Given the description of an element on the screen output the (x, y) to click on. 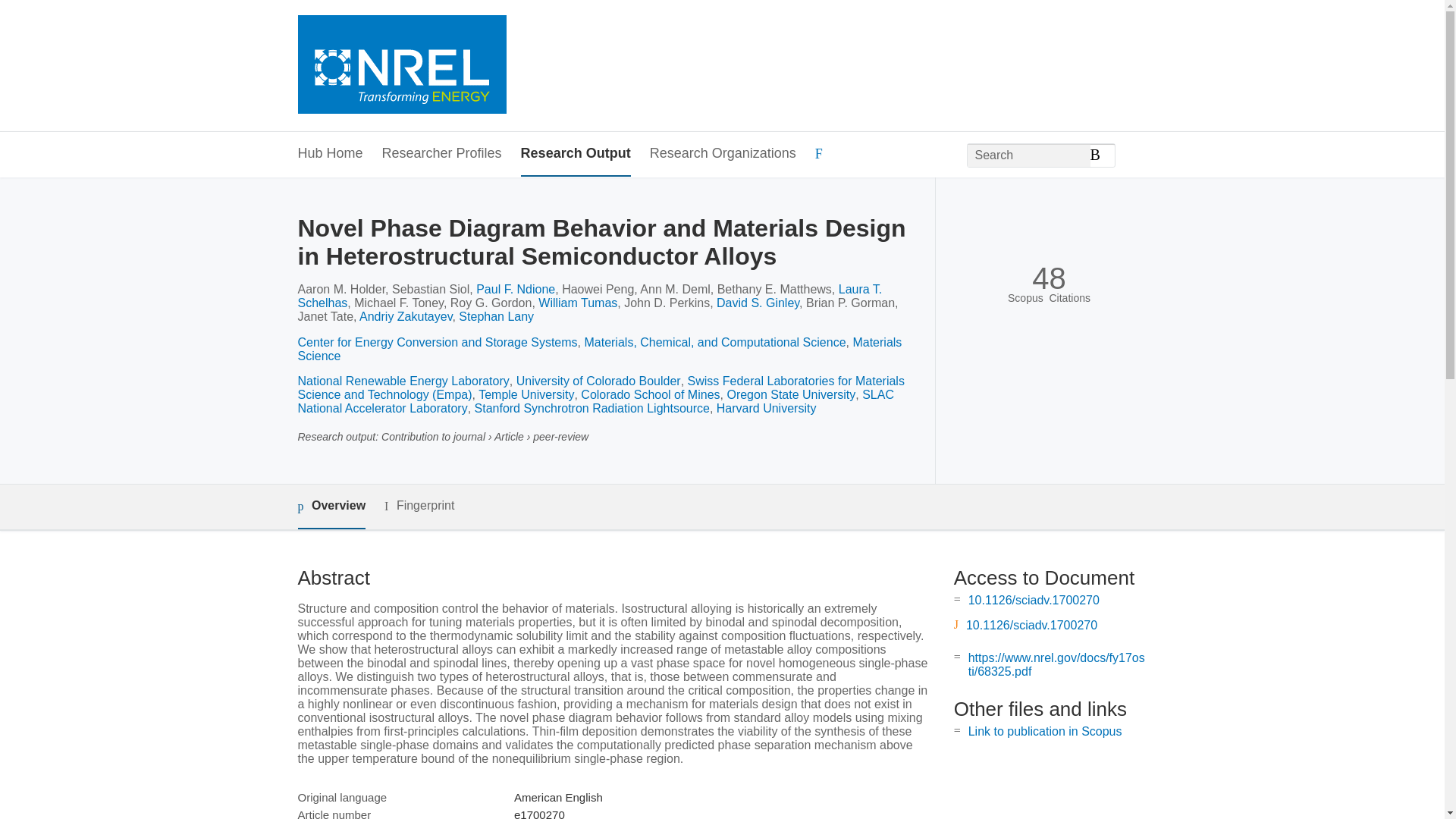
Colorado School of Mines (649, 394)
Fingerprint (419, 505)
National Renewable Energy Laboratory Hub Home (401, 66)
Hub Home (329, 153)
Overview (331, 506)
Harvard University (766, 408)
David S. Ginley (757, 302)
Andriy Zakutayev (405, 316)
Research Output (575, 153)
William Tumas (577, 302)
Materials, Chemical, and Computational Science (714, 341)
Temple University (526, 394)
Paul F. Ndione (515, 288)
Stanford Synchrotron Radiation Lightsource (592, 408)
Researcher Profiles (441, 153)
